Given the description of an element on the screen output the (x, y) to click on. 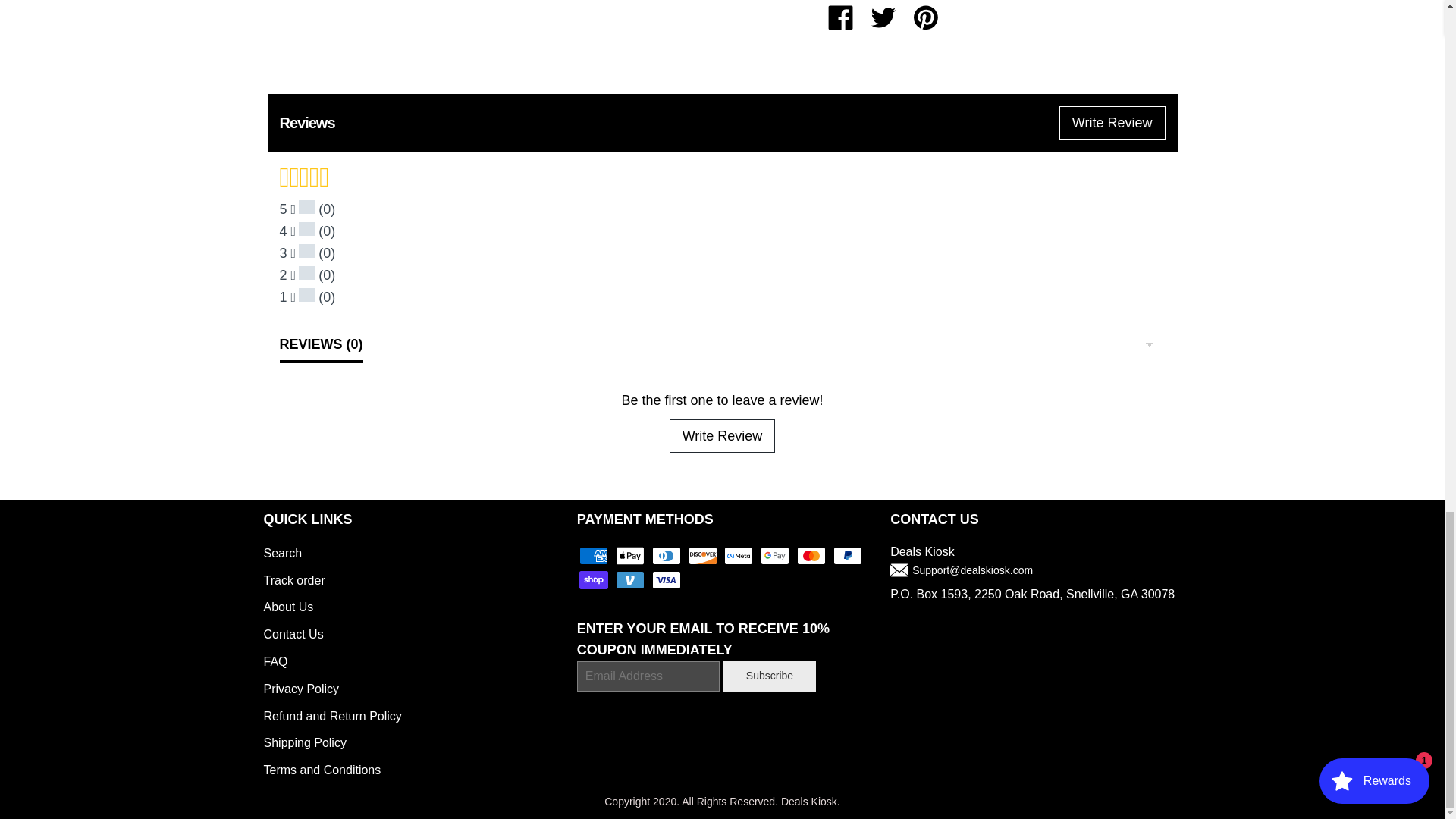
Subscribe (769, 675)
About Us (288, 606)
Refund and Return Policy (332, 716)
Track order (293, 580)
Search (282, 553)
Write Review (722, 435)
Track order (293, 580)
Privacy Policy (301, 688)
Contact Us (293, 634)
Privacy Policy (301, 688)
Search (282, 553)
FAQ (275, 661)
Shipping Policy (304, 742)
Terms and Conditions (322, 769)
FAQ (275, 661)
